Given the description of an element on the screen output the (x, y) to click on. 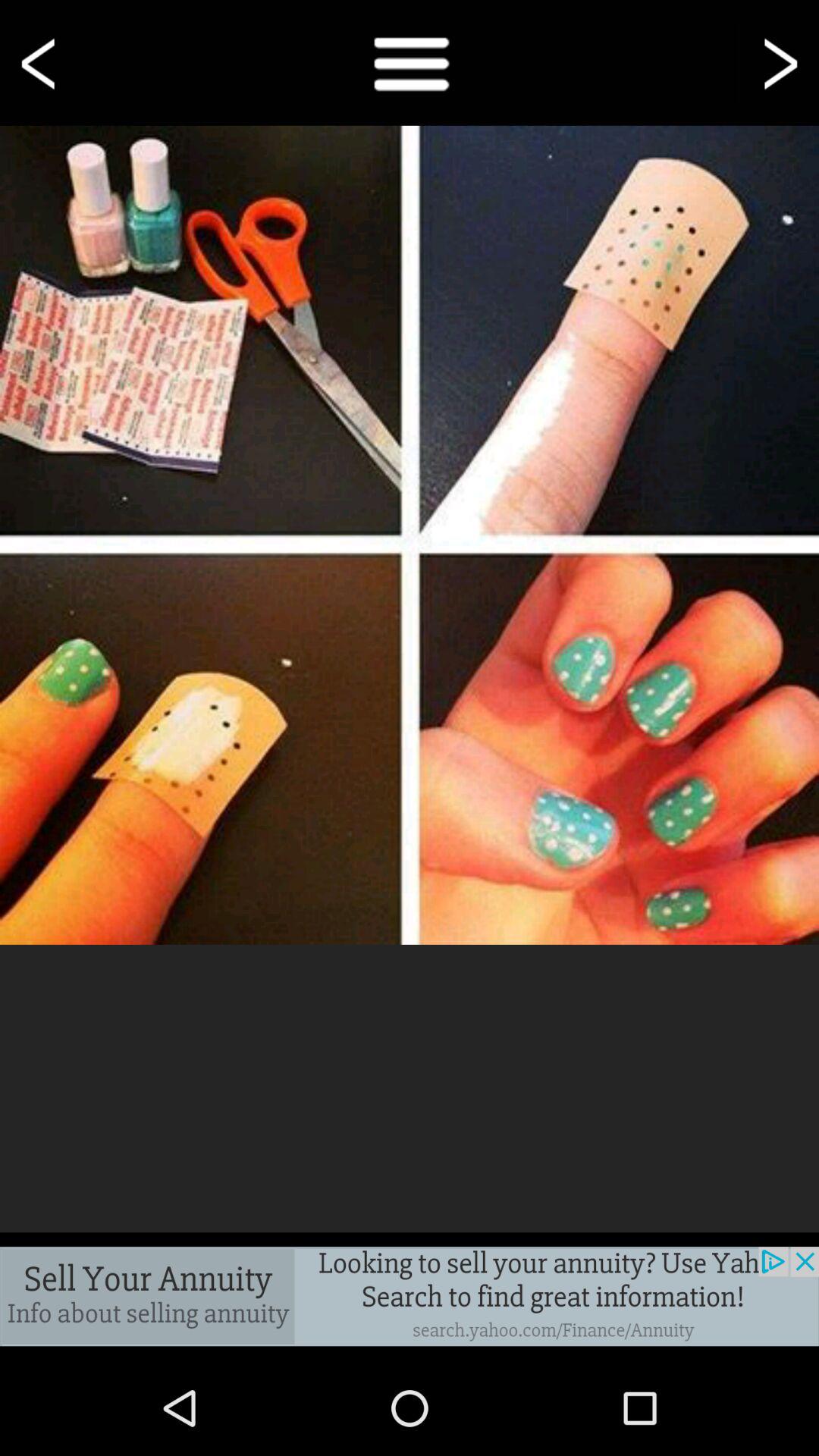
advertisement link to different site (409, 1296)
